Given the description of an element on the screen output the (x, y) to click on. 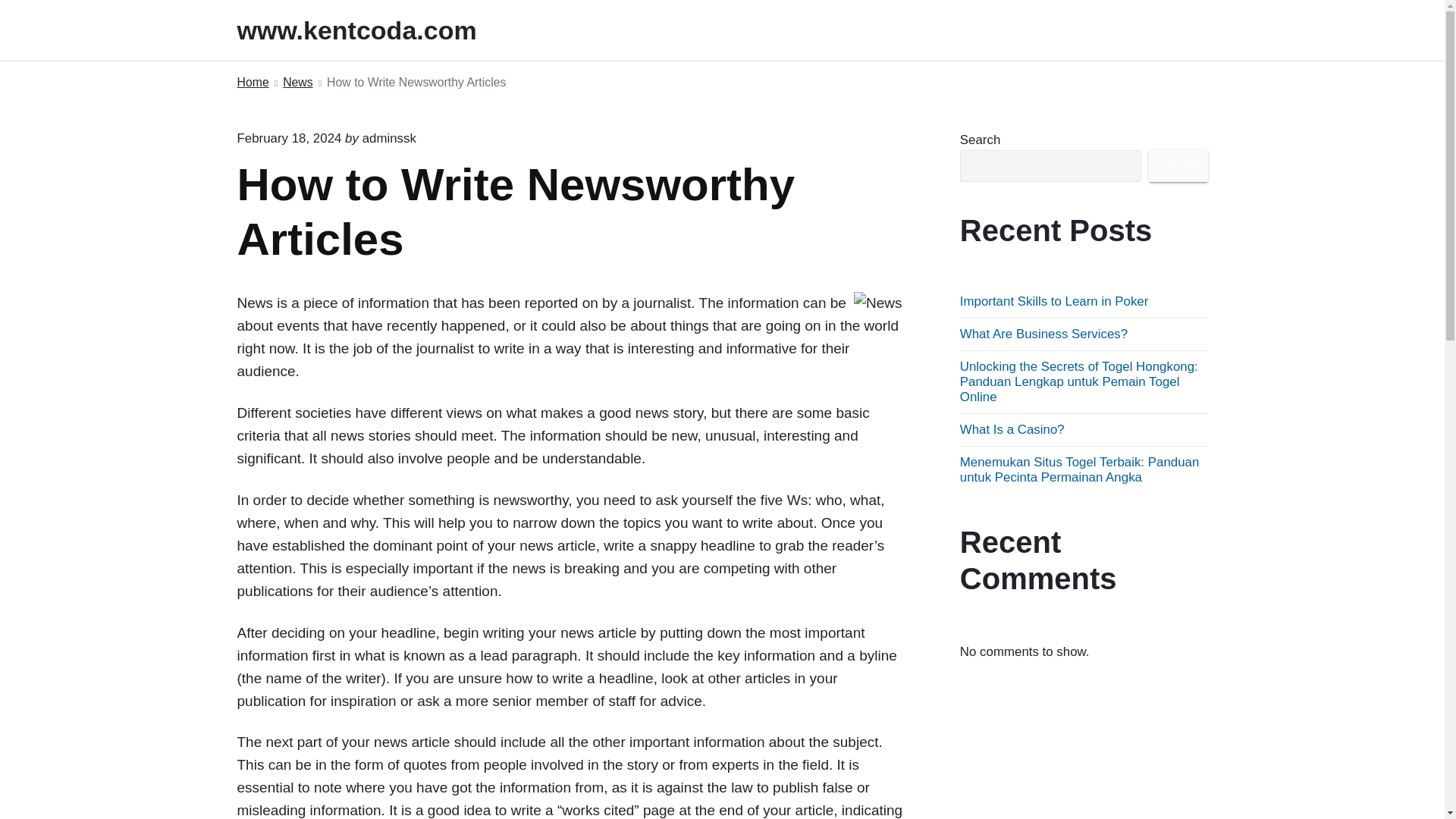
www.kentcoda.com (376, 30)
adminssk (389, 138)
SEARCH (1178, 165)
What Is a Casino? (1011, 429)
What Are Business Services? (1042, 333)
Home (251, 82)
Important Skills to Learn in Poker (1053, 301)
News (297, 82)
Posts by adminssk (389, 138)
